Given the description of an element on the screen output the (x, y) to click on. 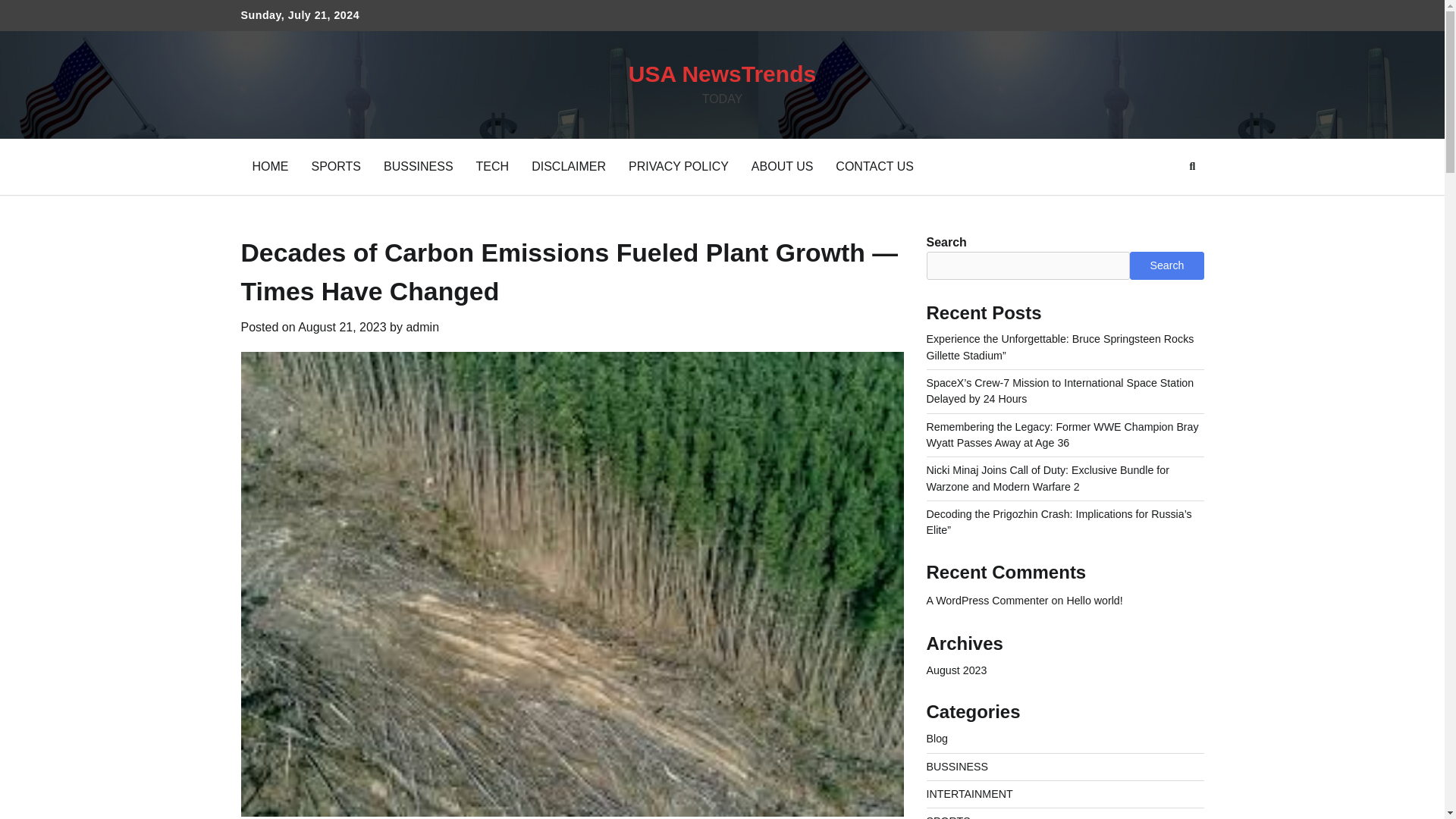
August 21, 2023 (342, 327)
Search (1192, 166)
USA NewsTrends (721, 73)
CONTACT US (1188, 15)
DISCLAIMER (1098, 15)
HOME (975, 15)
ABOUT US (782, 166)
BUSSINESS (418, 166)
Search (1164, 202)
SPORTS (335, 166)
SPORTS (1006, 15)
DISCLAIMER (568, 166)
TECH (492, 166)
HOME (270, 166)
admin (422, 327)
